Given the description of an element on the screen output the (x, y) to click on. 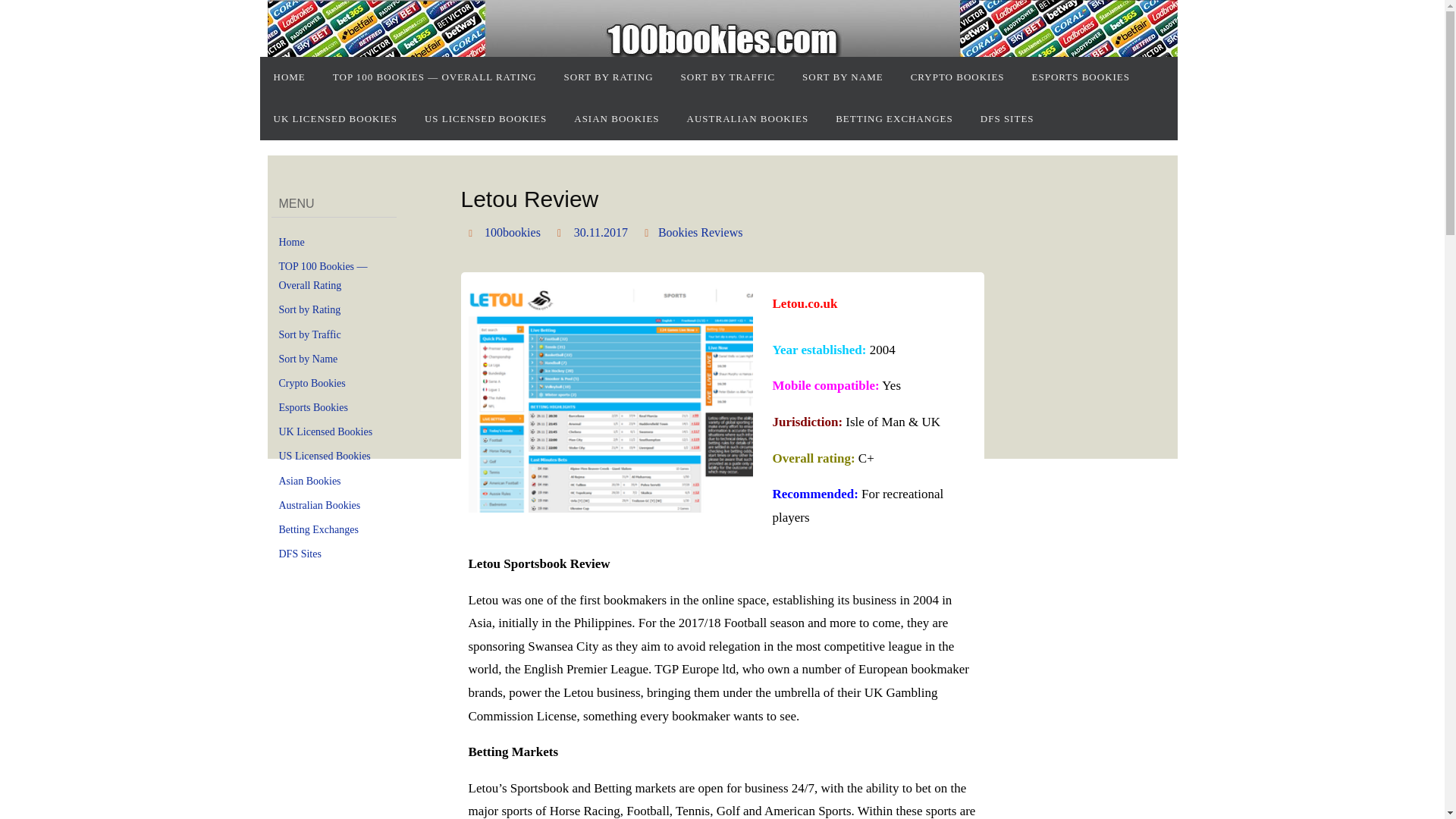
Author  (472, 232)
AUSTRALIAN BOOKIES (747, 119)
SORT BY NAME (842, 77)
100bookies (512, 232)
SORT BY TRAFFIC (727, 77)
ASIAN BOOKIES (616, 119)
SORT BY RATING (608, 77)
Sort by Traffic (309, 335)
DFS SITES (1007, 119)
BETTING EXCHANGES (894, 119)
